Given the description of an element on the screen output the (x, y) to click on. 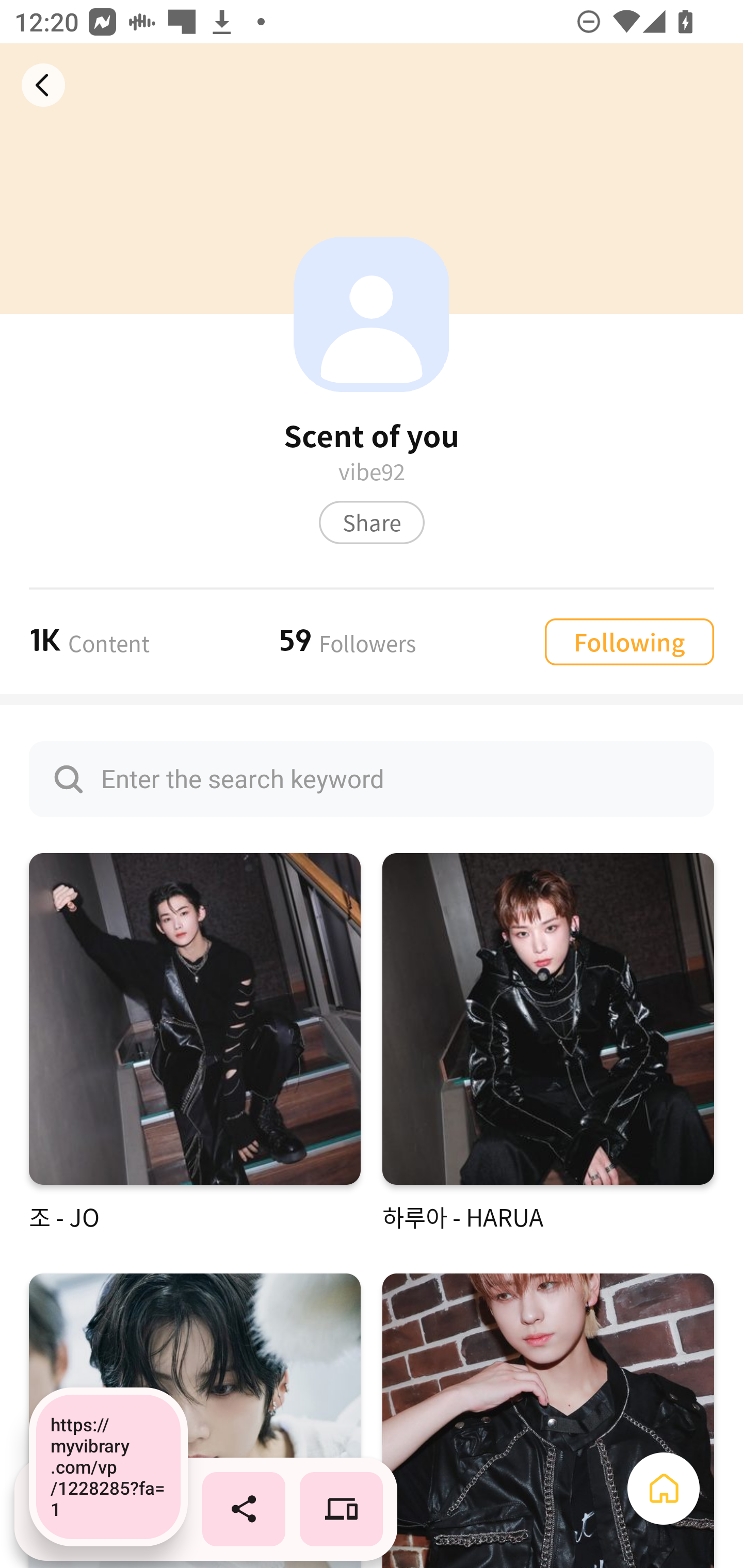
Share (371, 522)
Following (629, 640)
Enter the search keyword (371, 778)
조  -  JO (194, 1043)
하루아  -  HARUA (548, 1043)
